Given the description of an element on the screen output the (x, y) to click on. 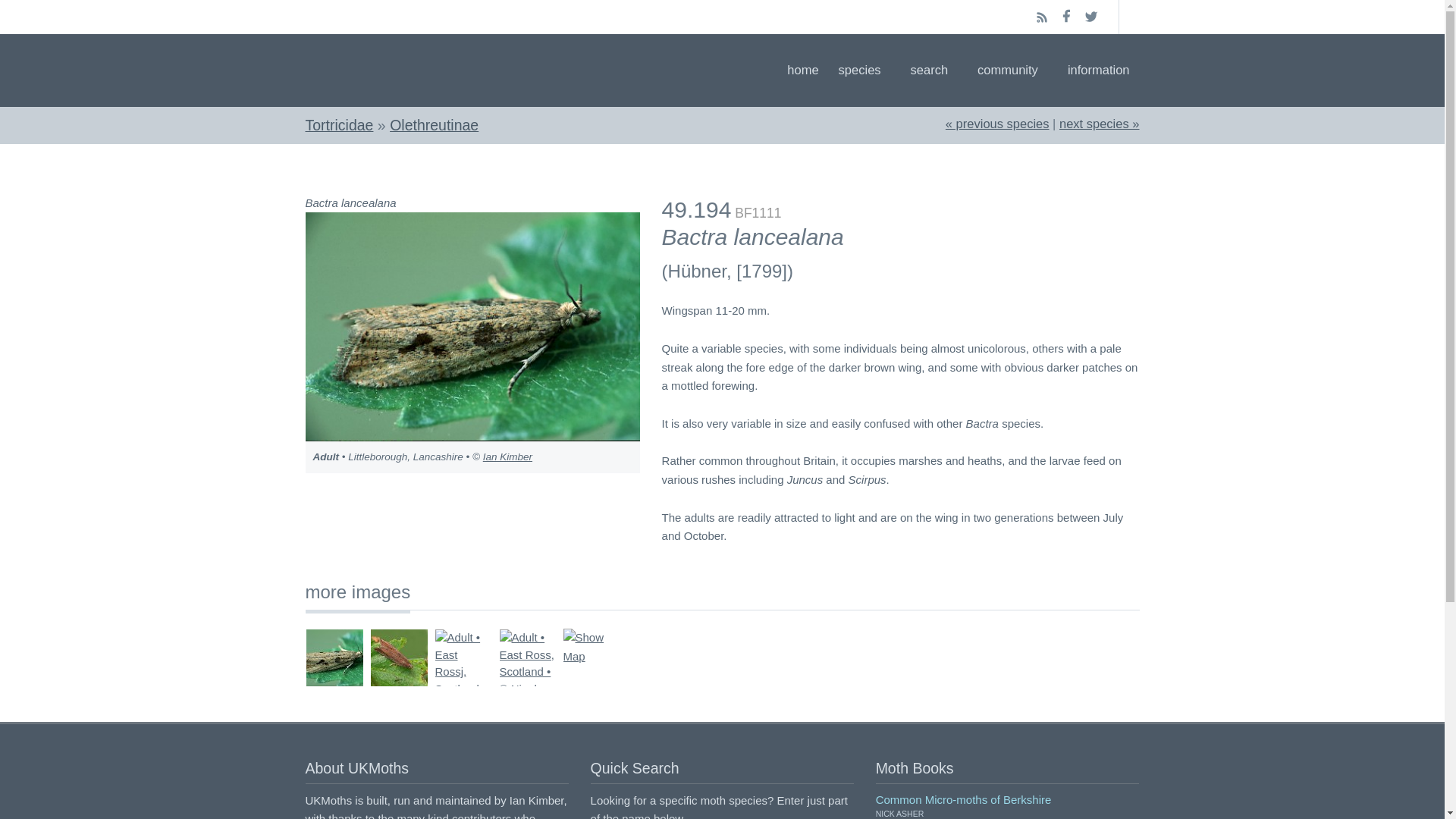
search (934, 70)
Bactra lancealana (1098, 123)
Bactra lancealana (996, 123)
Bactra lancealana (472, 326)
species (864, 70)
